Given the description of an element on the screen output the (x, y) to click on. 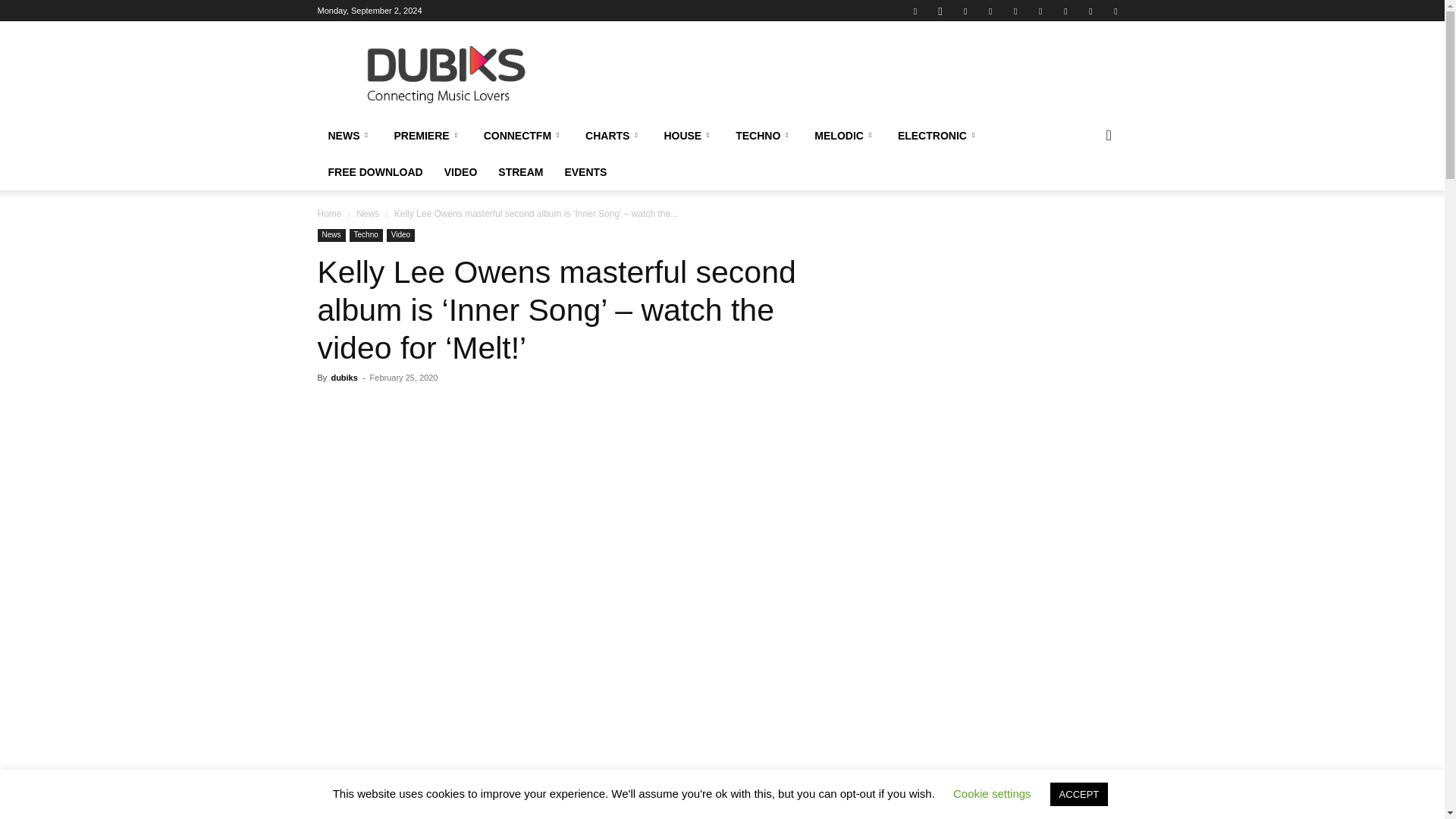
Instagram (940, 10)
Paypal (989, 10)
Facebook (915, 10)
Mail (964, 10)
